Given the description of an element on the screen output the (x, y) to click on. 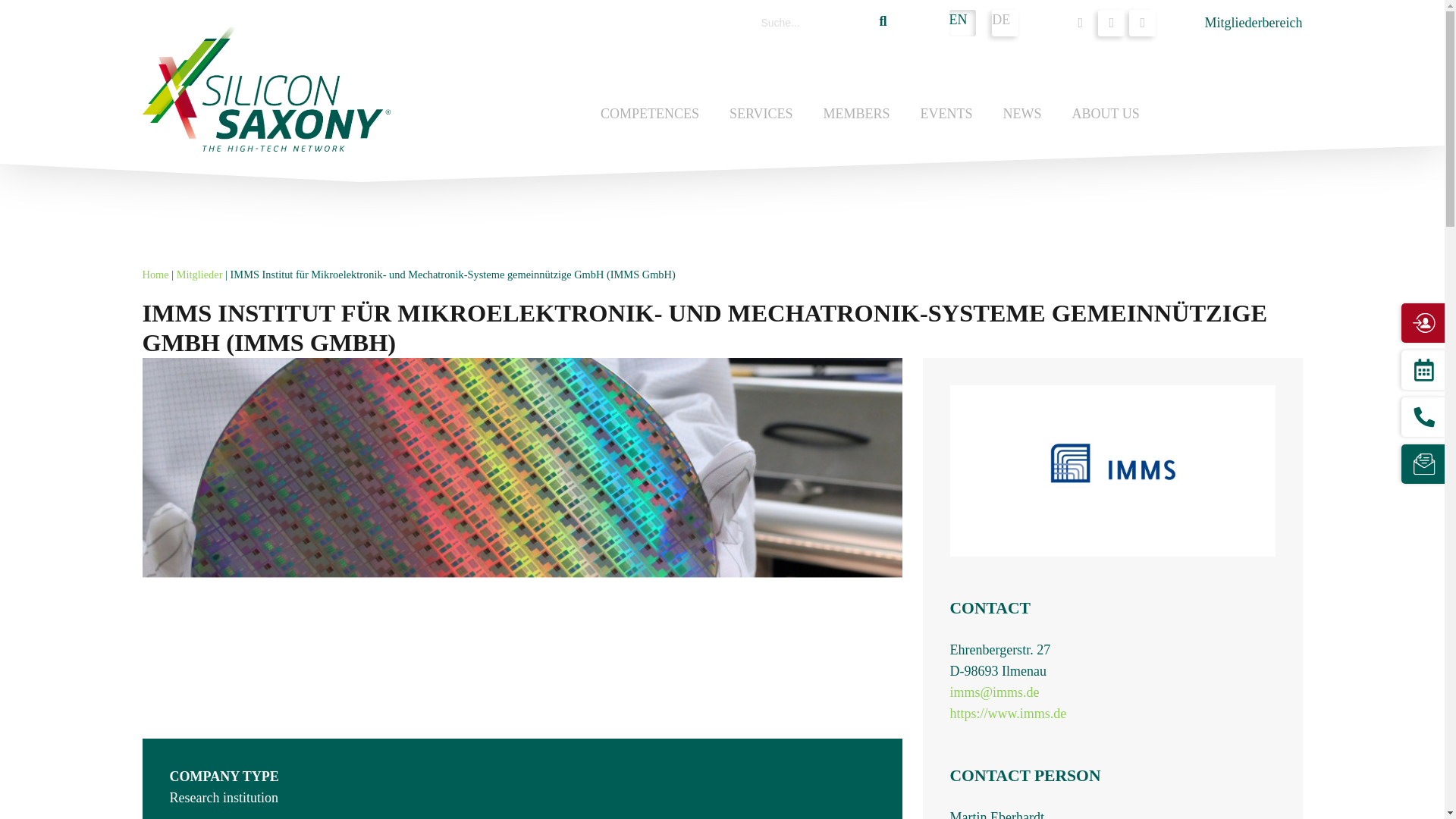
COMPETENCES (649, 113)
Schrift verkleinern (1142, 22)
MEMBERS (856, 113)
NEWS (1022, 113)
EN (958, 19)
Mitgliederbereich (1254, 22)
DE (1000, 19)
SERVICES (761, 113)
EVENTS (946, 113)
